Given the description of an element on the screen output the (x, y) to click on. 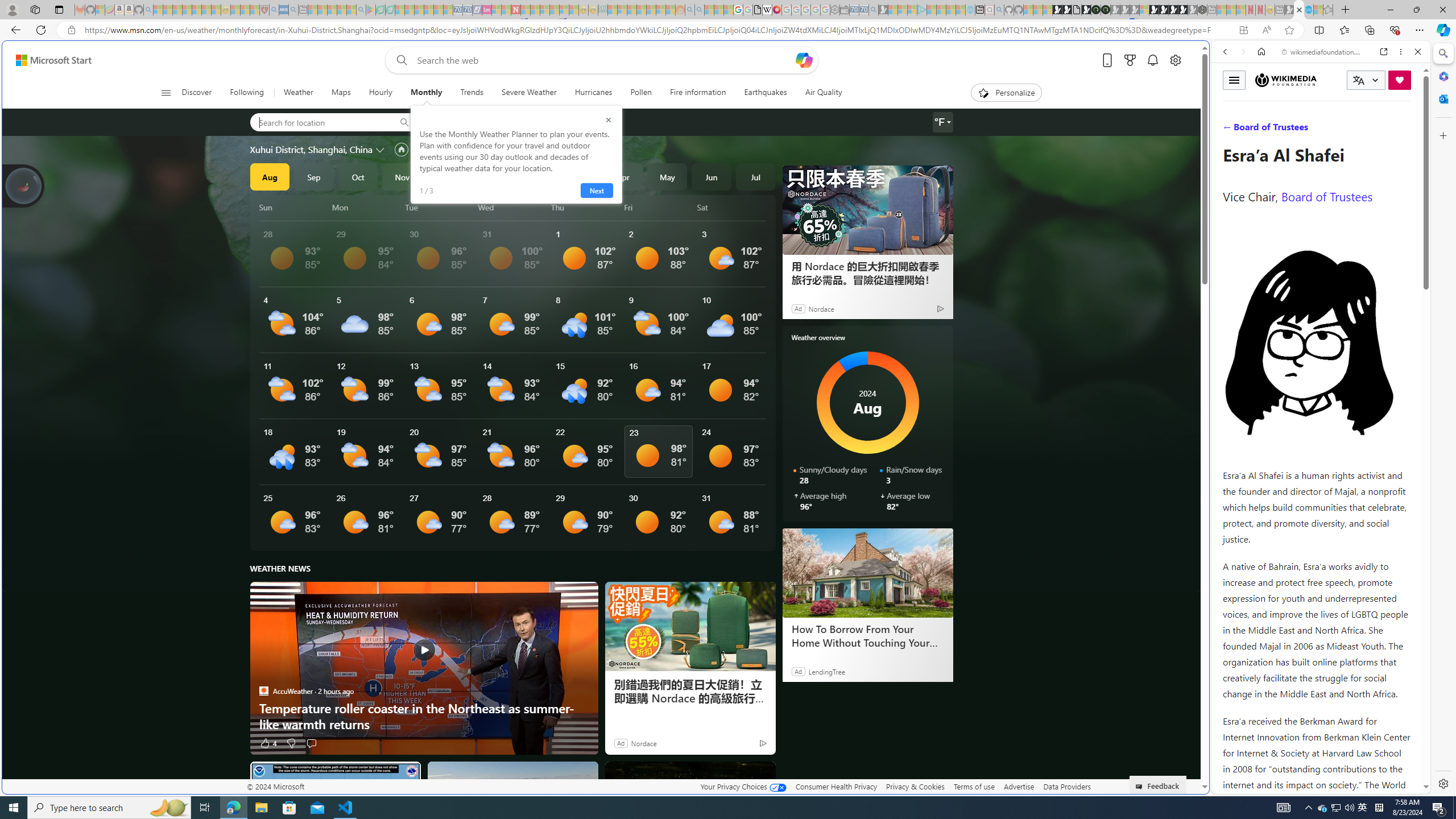
Severe Weather (529, 92)
AccuWeather (263, 690)
Pollen (641, 92)
Hurricanes (592, 92)
Thu (585, 207)
google - Search - Sleeping (360, 9)
DITOGAMES AG Imprint - Sleeping (602, 9)
Search Filter, VIDEOS (1300, 129)
